Given the description of an element on the screen output the (x, y) to click on. 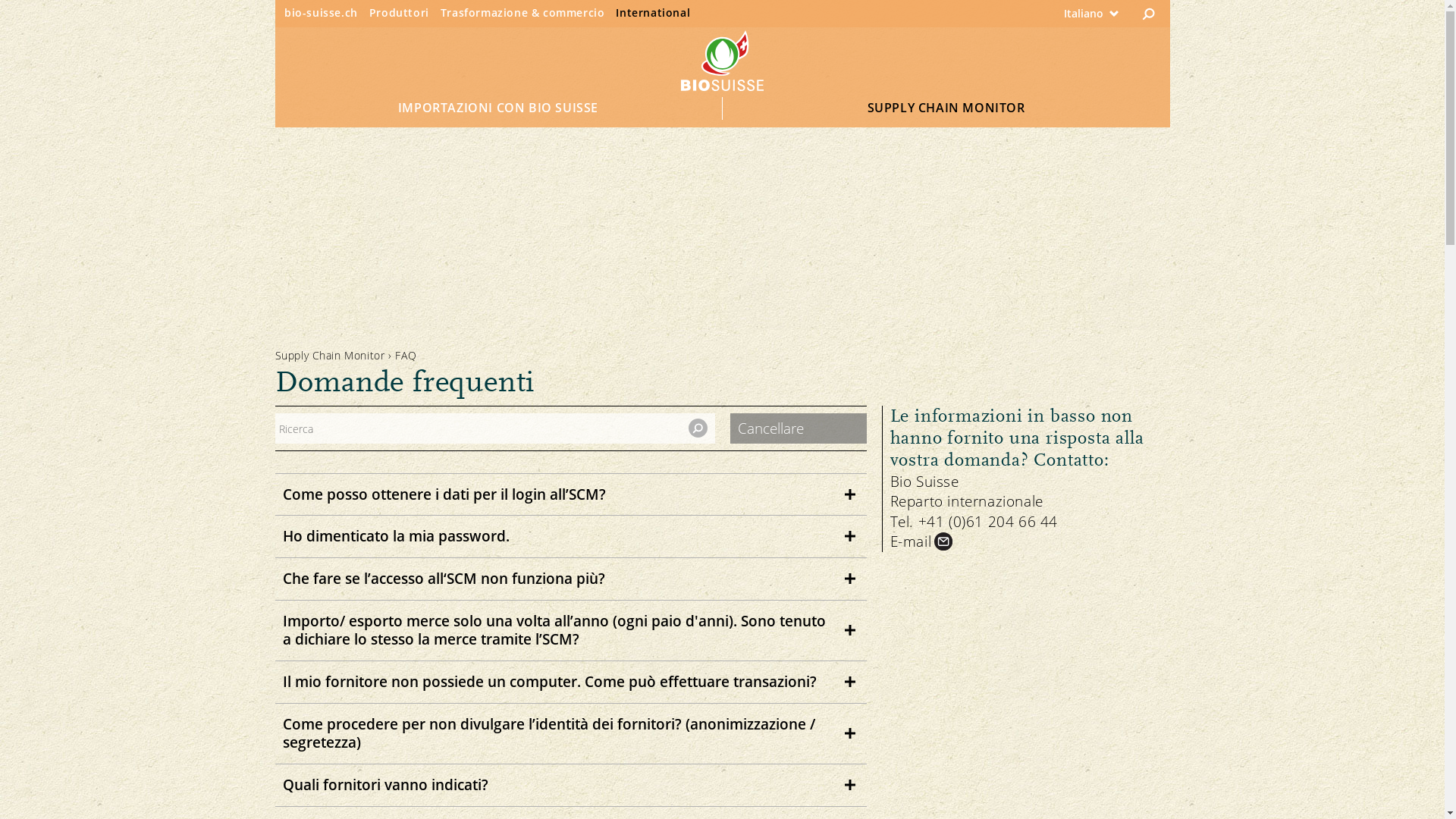
Produttori Element type: text (399, 12)
Ho dimenticato la mia password. Element type: text (570, 536)
Quali fornitori vanno indicati? Element type: text (570, 785)
SUPPLY CHAIN MONITOR Element type: text (945, 108)
Supply Chain Monitor Element type: text (329, 355)
bio-suisse.ch Element type: text (320, 12)
Italiano Element type: text (1053, 13)
+41 (0)61 204 66 44 Element type: text (990, 521)
IMPORTAZIONI CON BIO SUISSE Element type: text (497, 108)
E-mail Element type: text (922, 541)
Trasformazione & commercio Element type: text (522, 12)
Cancellare Element type: text (798, 428)
International Element type: text (652, 12)
